Given the description of an element on the screen output the (x, y) to click on. 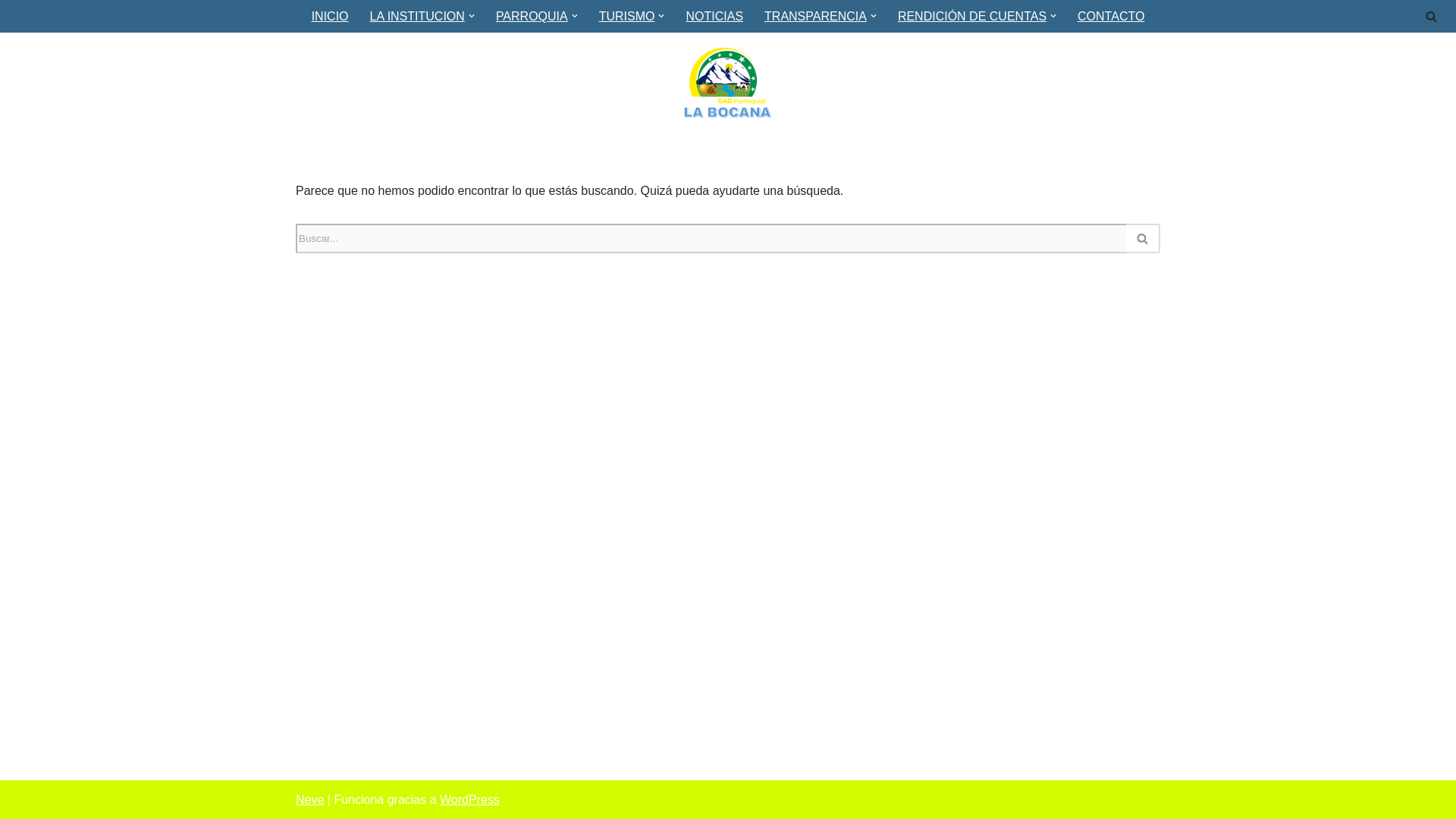
LA INSTITUCION (416, 15)
TURISMO (626, 15)
Saltar al contenido (11, 31)
PARROQUIA (531, 15)
INICIO (330, 15)
TRANSPARENCIA (815, 15)
NOTICIAS (713, 15)
